Given the description of an element on the screen output the (x, y) to click on. 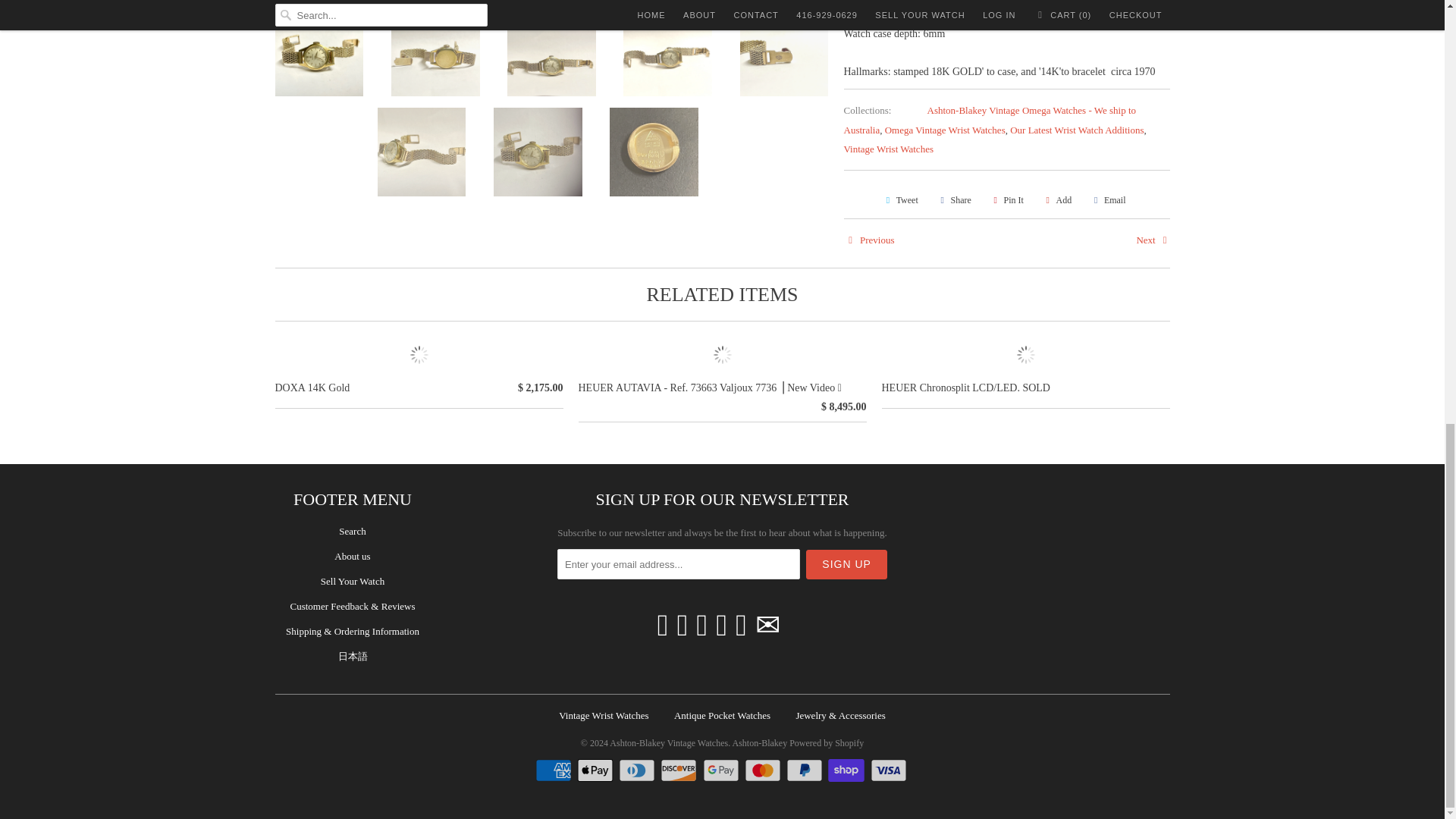
Sign Up (846, 564)
